Given the description of an element on the screen output the (x, y) to click on. 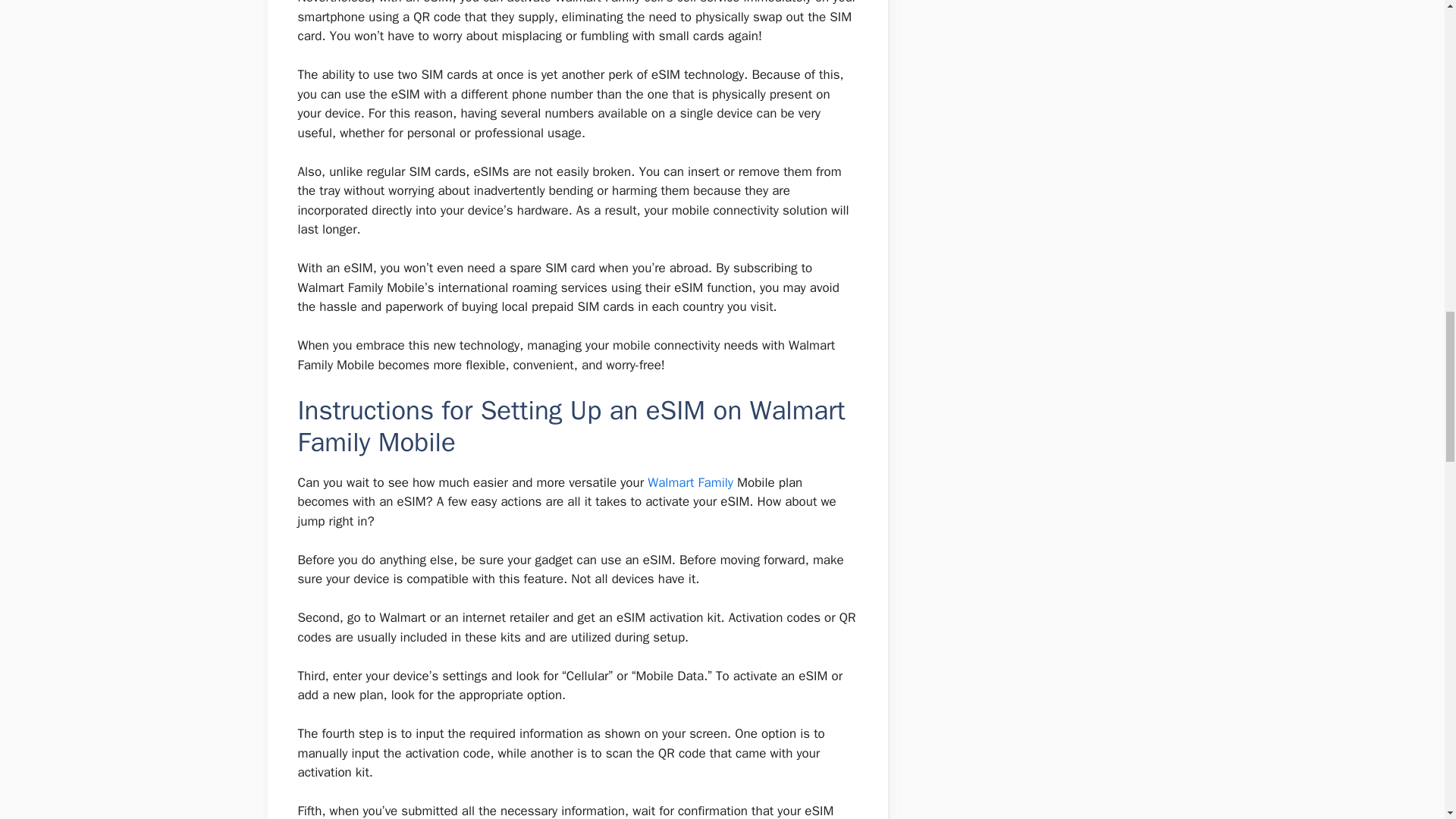
Walmart Family (690, 482)
